Given the description of an element on the screen output the (x, y) to click on. 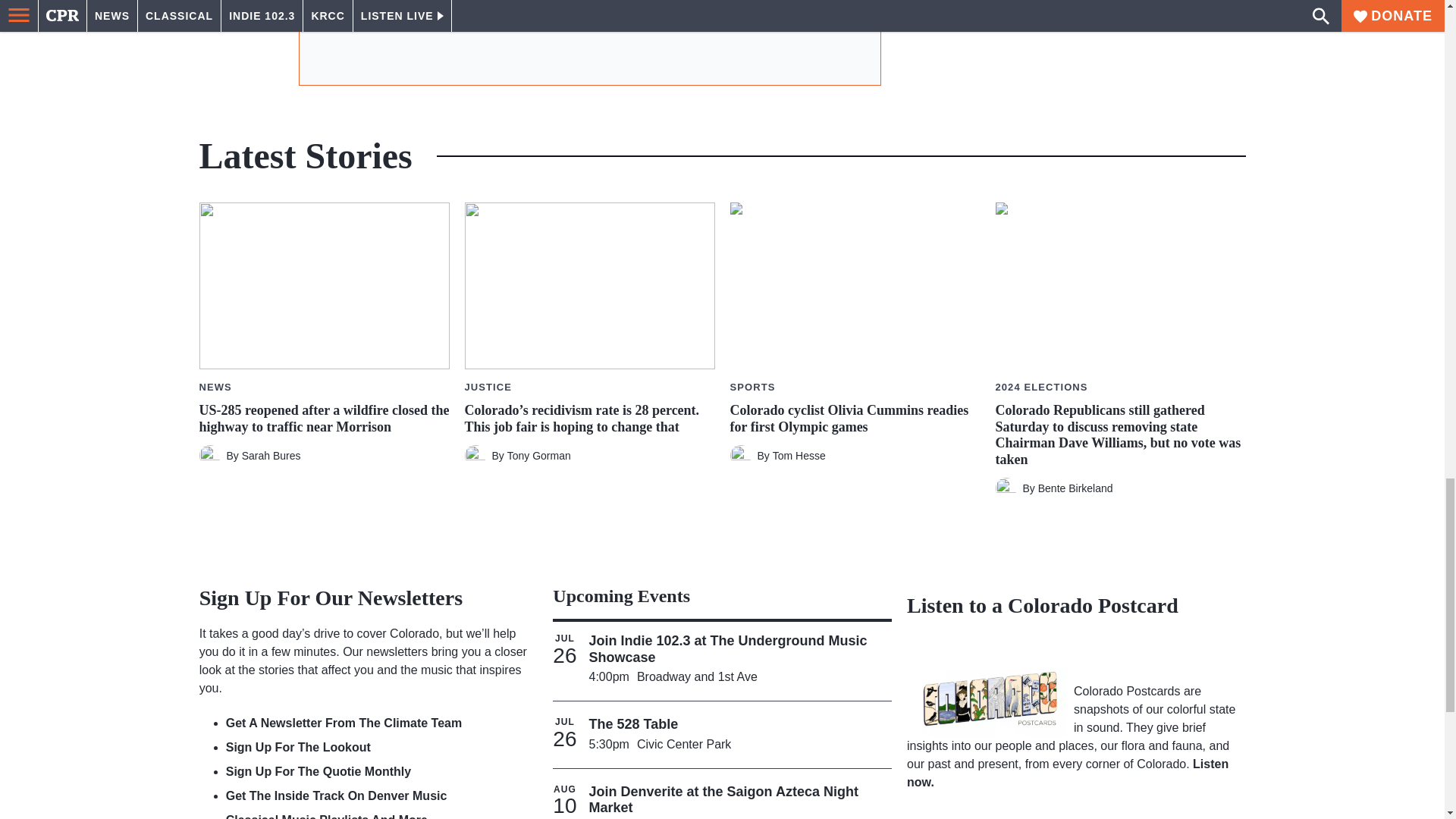
newsArticleSignup (589, 36)
